Given the description of an element on the screen output the (x, y) to click on. 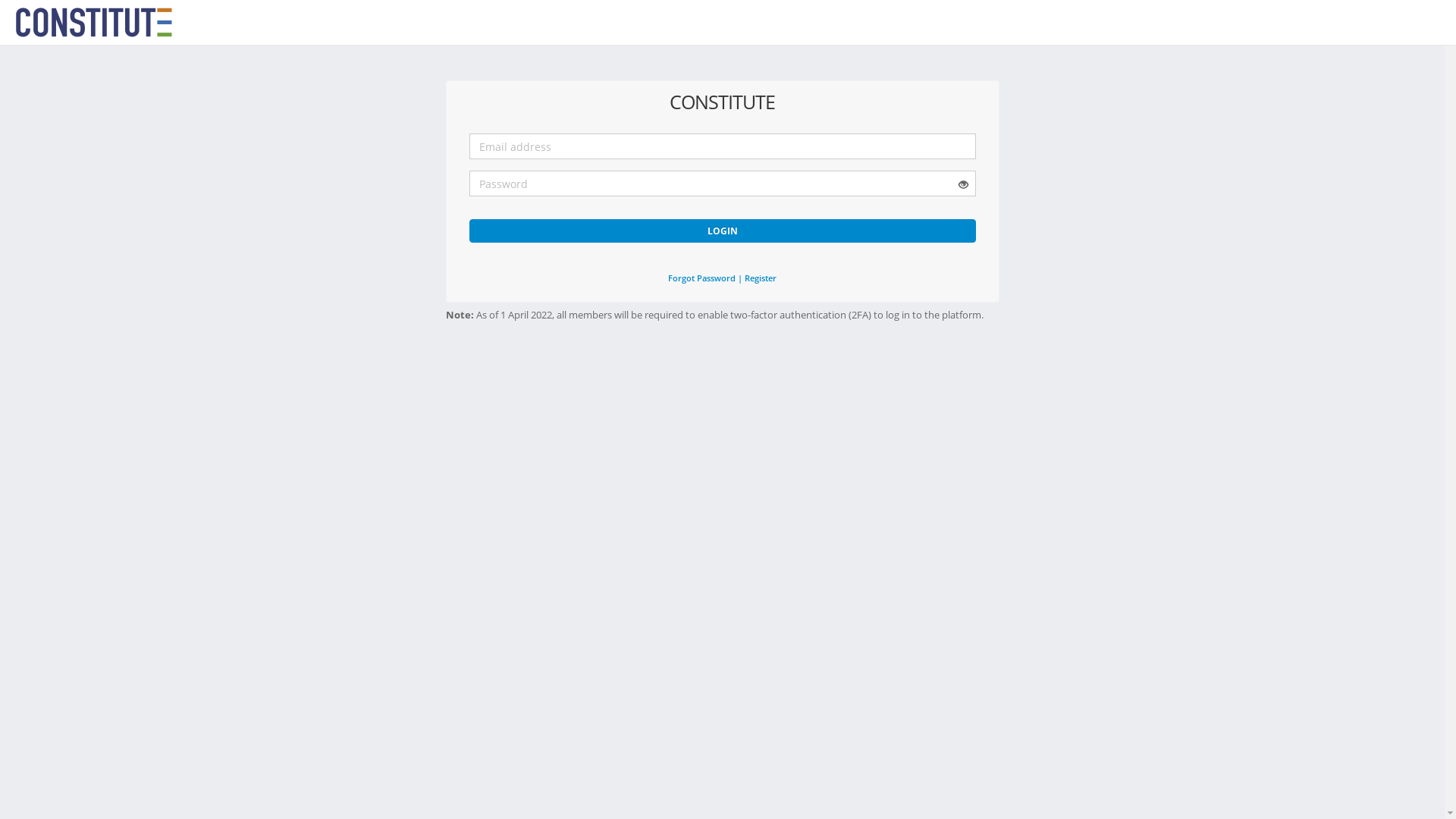
Forgot Password Element type: text (701, 277)
| Register Element type: text (756, 277)
Login Element type: text (721, 230)
